Given the description of an element on the screen output the (x, y) to click on. 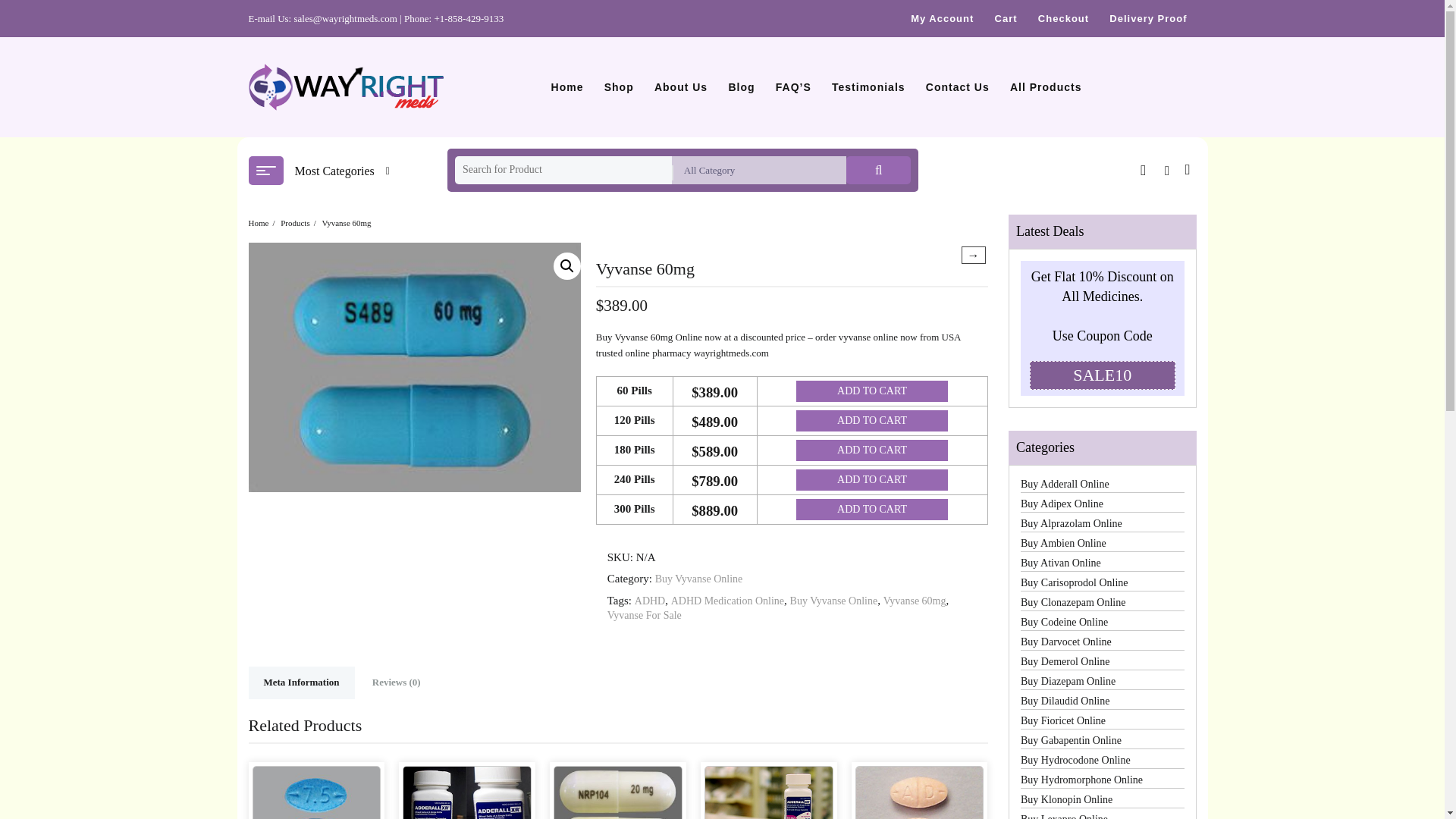
Home (566, 86)
Testimonials (868, 86)
Checkout (1063, 18)
Shop (619, 86)
All Products (1045, 86)
Search for: (562, 170)
Contact Us (957, 86)
Vyvanse 60mg Online (414, 367)
Delivery Proof (1147, 18)
About Us (680, 86)
Blog (740, 86)
My Account (941, 18)
Cart (1005, 18)
